Given the description of an element on the screen output the (x, y) to click on. 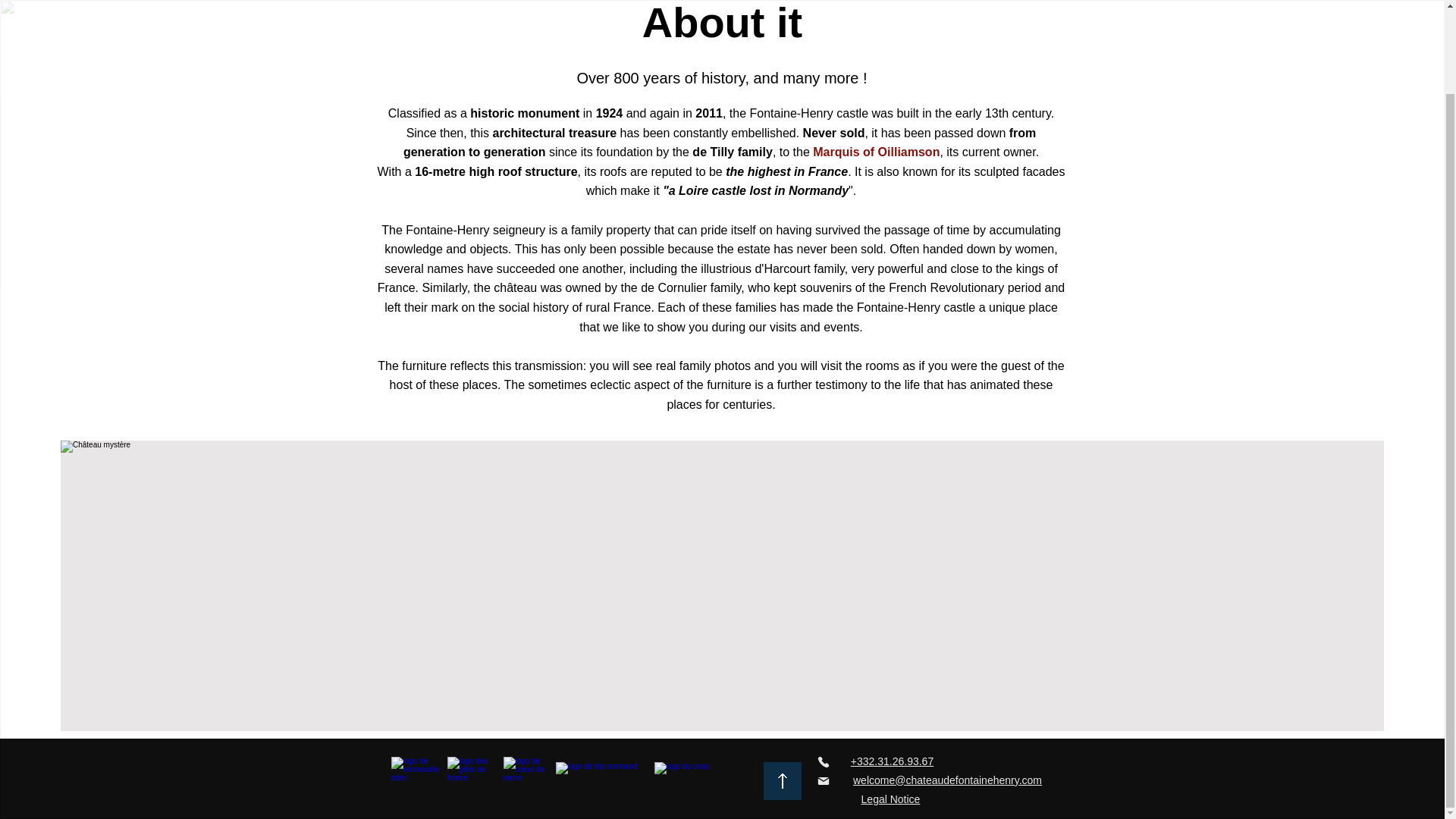
Marquis of Oilliamson (875, 151)
Legal Notice (890, 798)
